Given the description of an element on the screen output the (x, y) to click on. 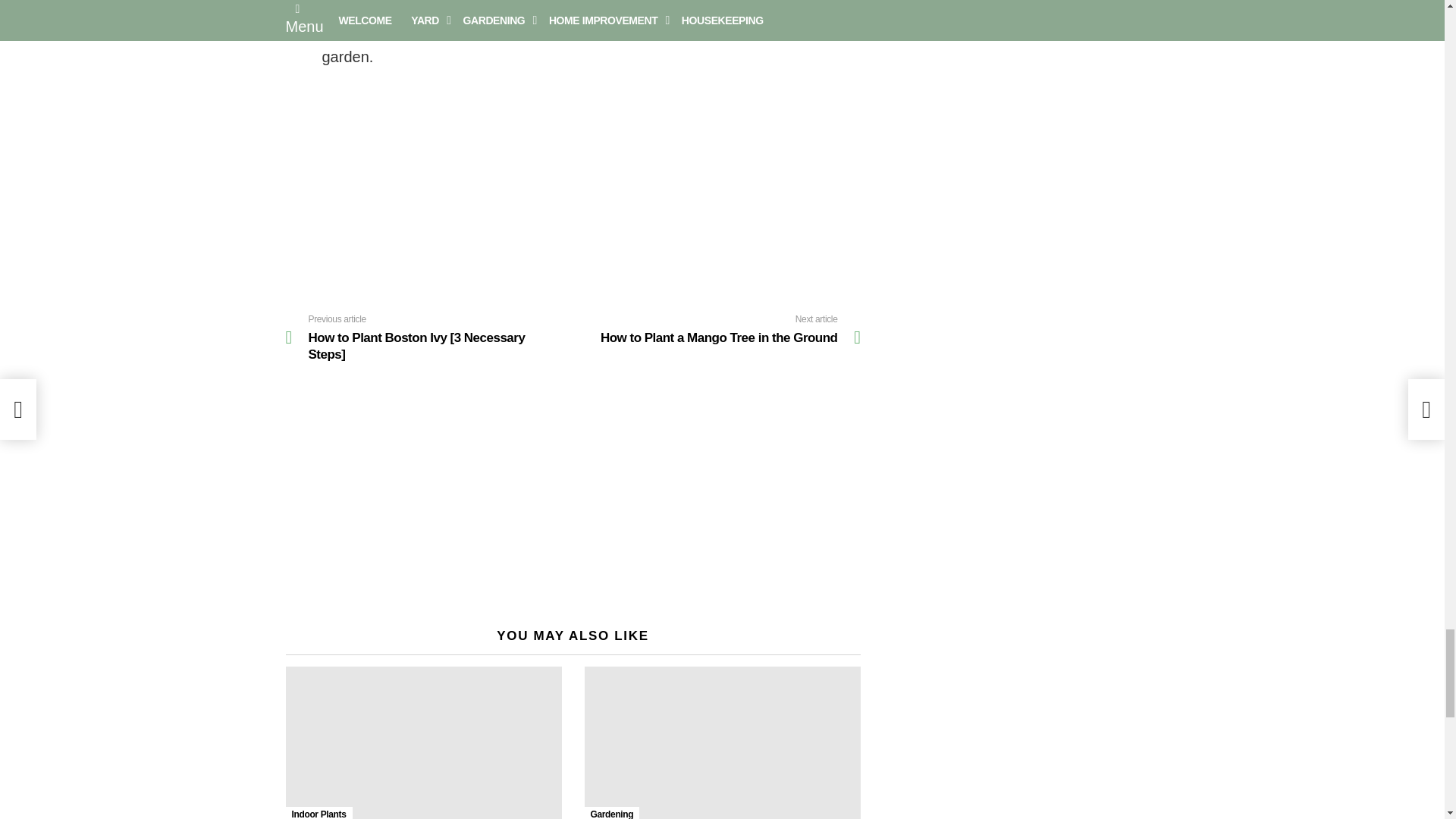
How Often to Water String of Dolphins (422, 742)
